Given the description of an element on the screen output the (x, y) to click on. 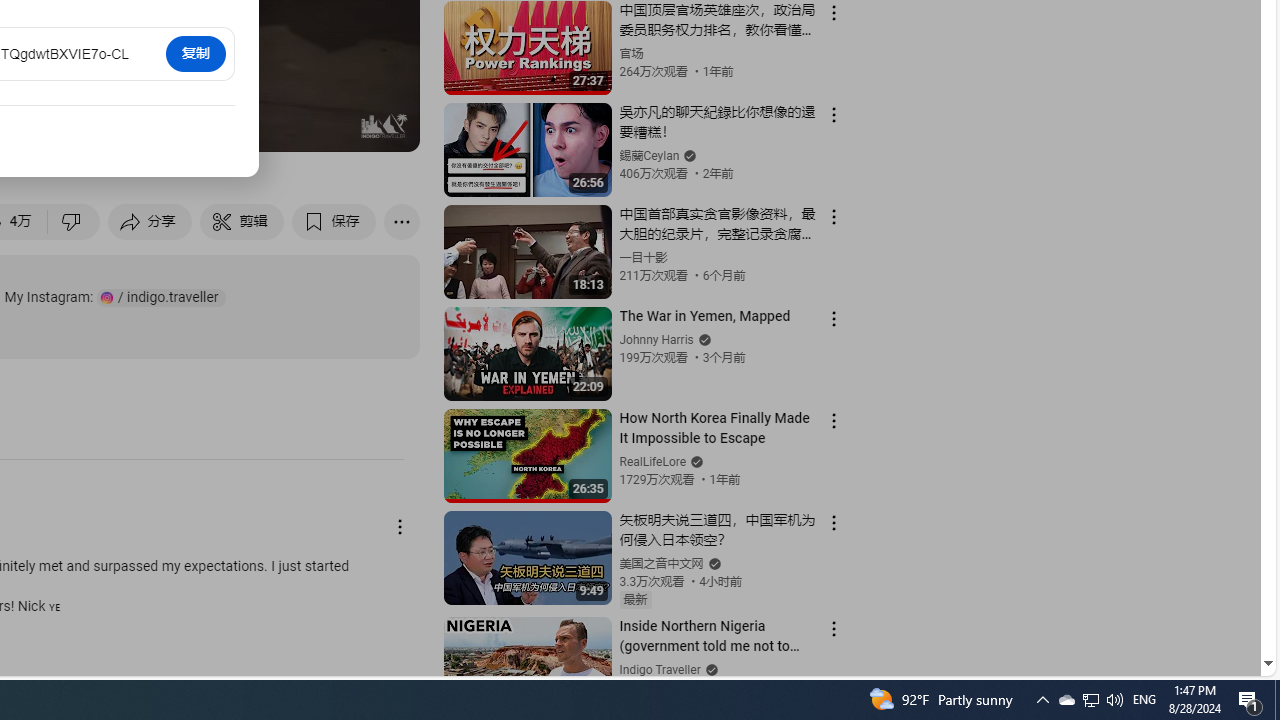
Class: ytp-subtitles-button-icon (190, 127)
